Given the description of an element on the screen output the (x, y) to click on. 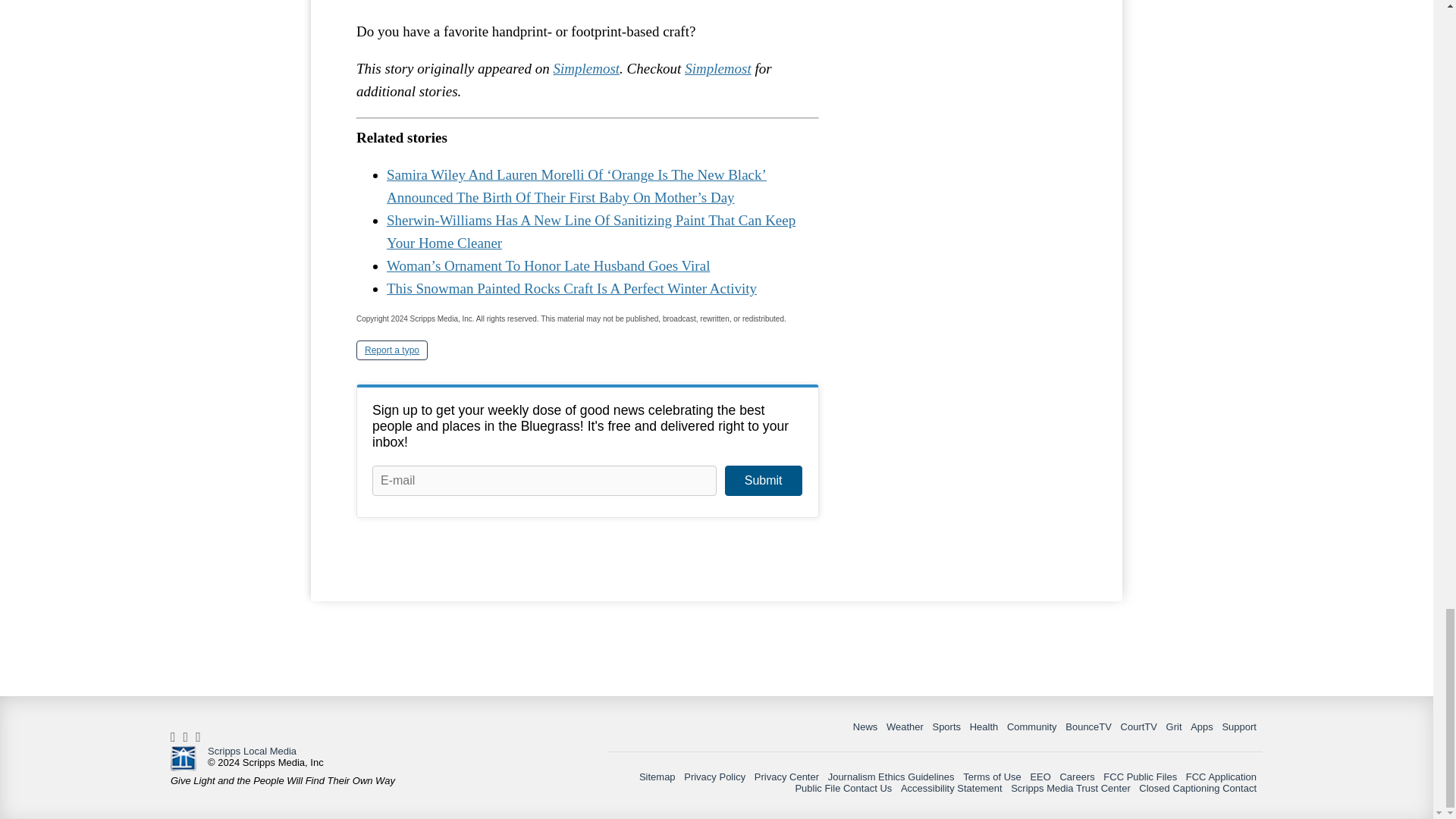
Submit (763, 481)
